Given the description of an element on the screen output the (x, y) to click on. 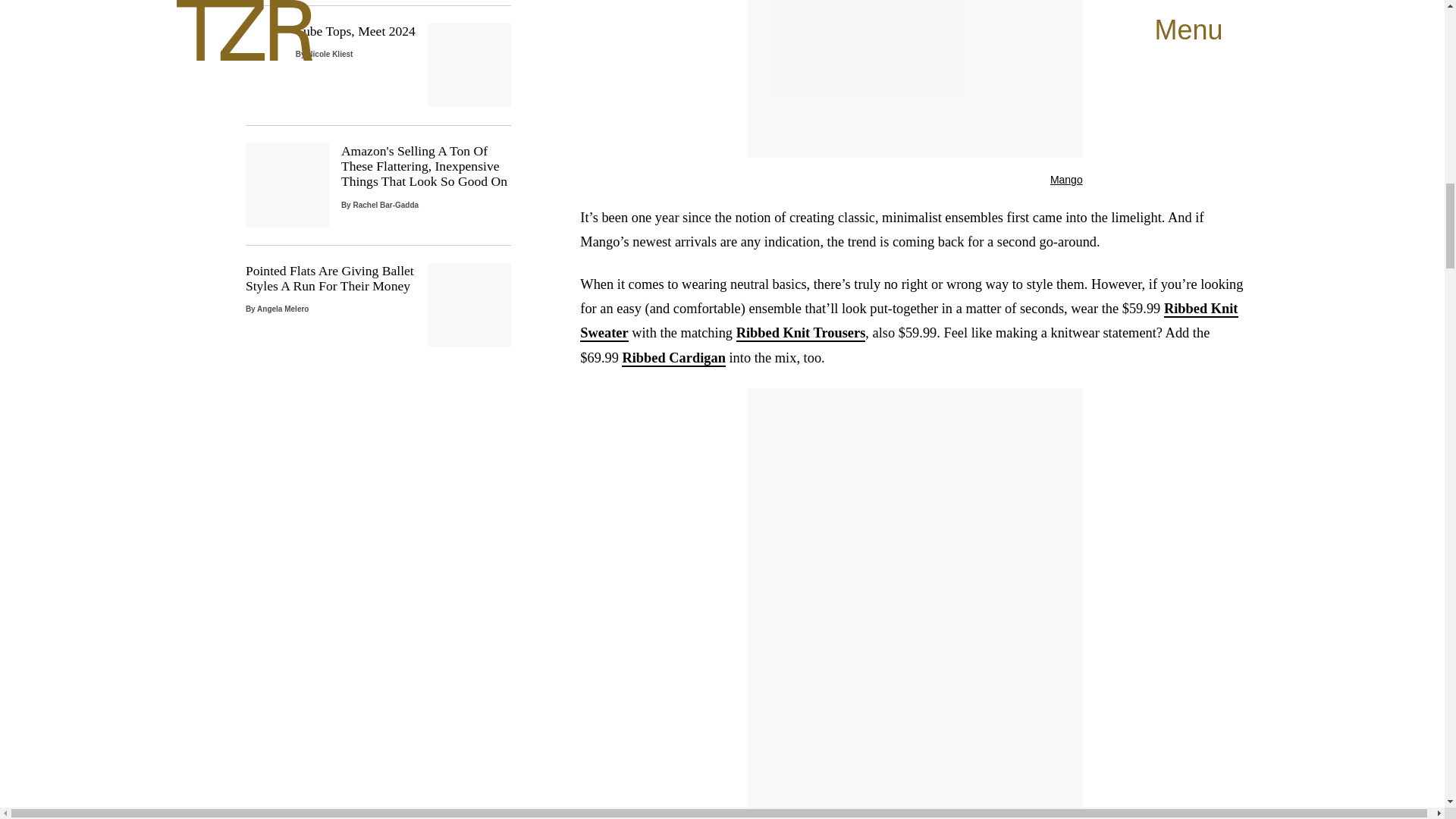
Mango (1066, 179)
Ribbed Cardigan (673, 358)
Ribbed Knit Sweater (908, 321)
Ribbed Knit Trousers (801, 333)
